Given the description of an element on the screen output the (x, y) to click on. 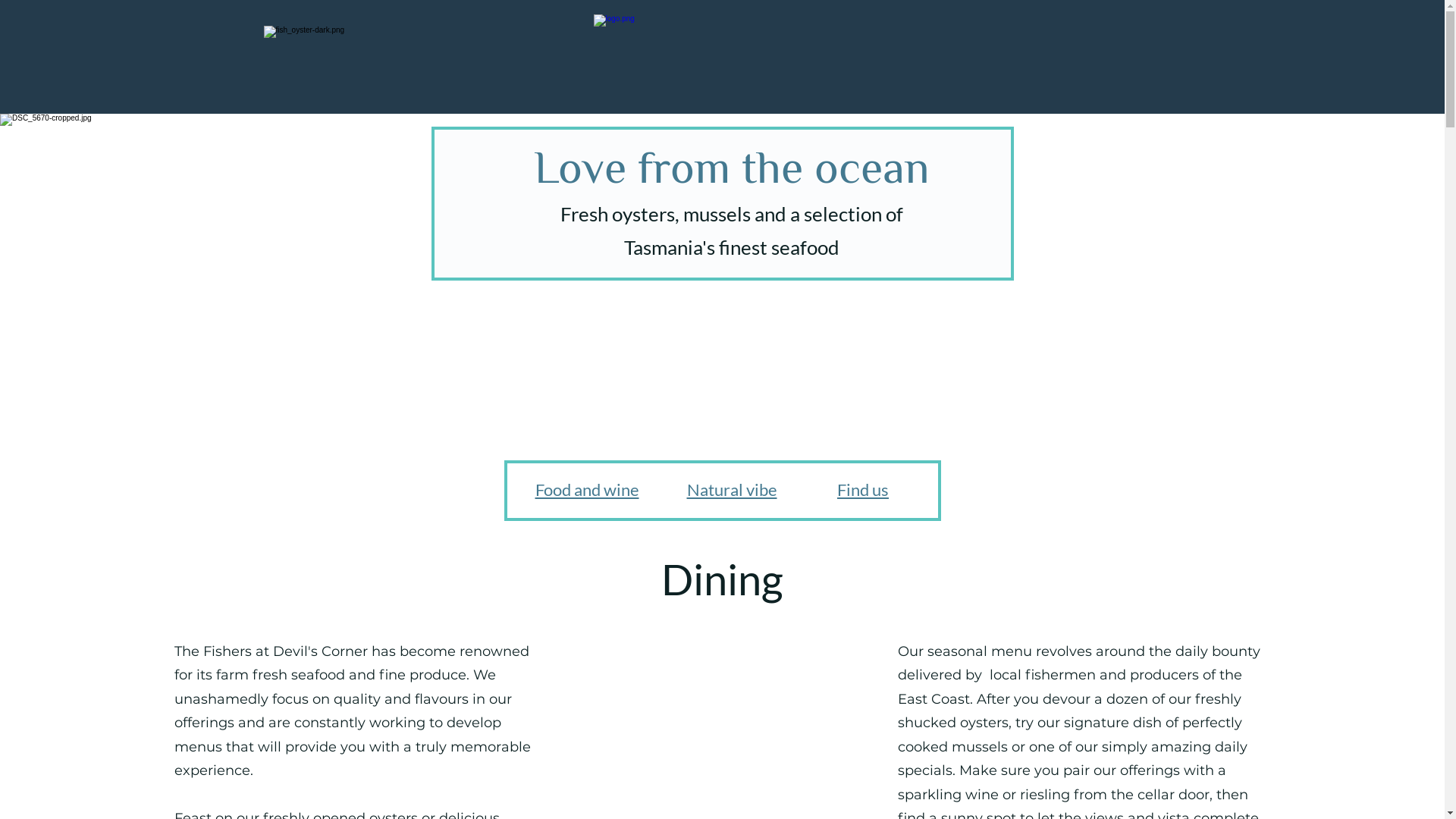
Food and wine Element type: text (587, 489)
Natural vibe Element type: text (732, 489)
